Given the description of an element on the screen output the (x, y) to click on. 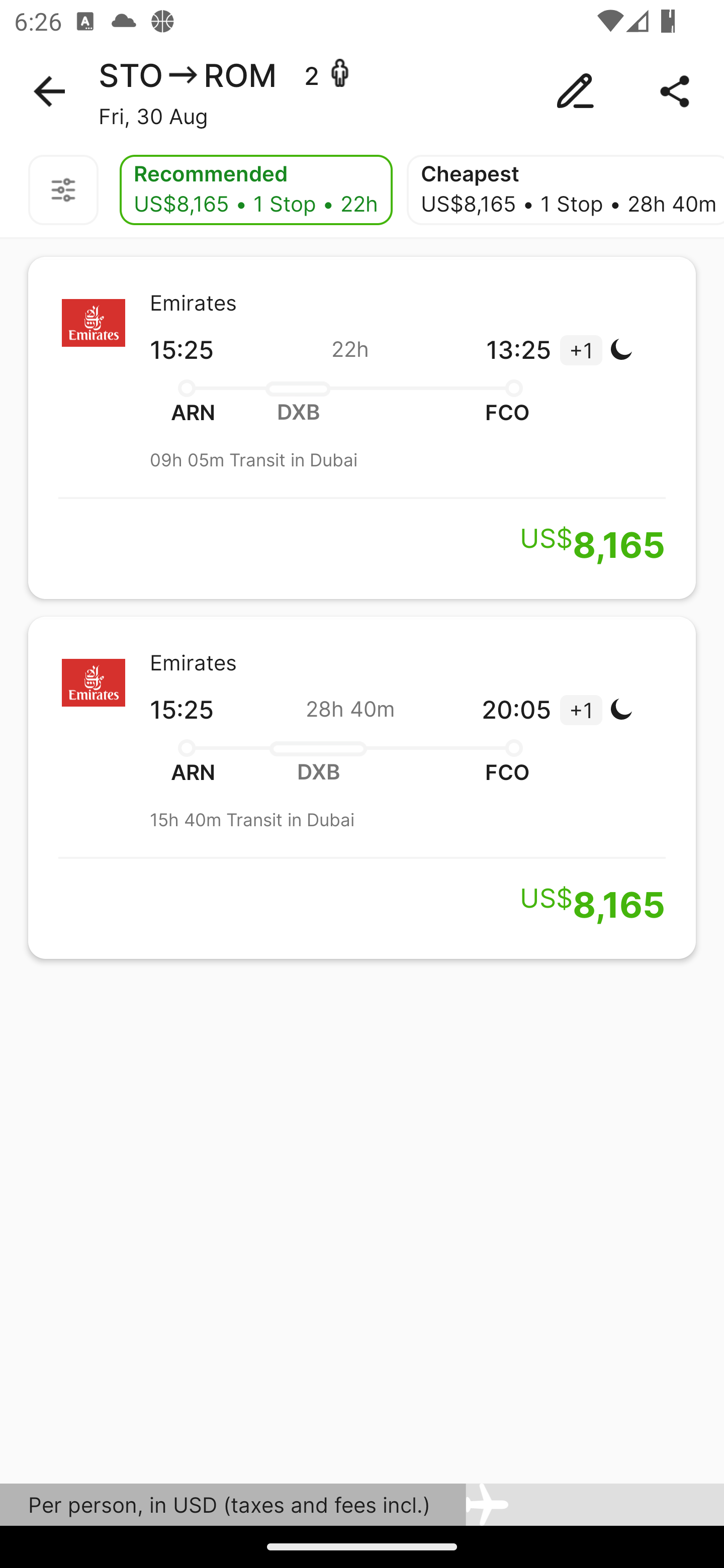
STO ROM   2 - Fri, 30 Aug (361, 91)
Recommended  US$8,165 • 1 Stop • 22h (255, 190)
Cheapest US$8,165 • 1 Stop • 28h 40m (565, 190)
